Given the description of an element on the screen output the (x, y) to click on. 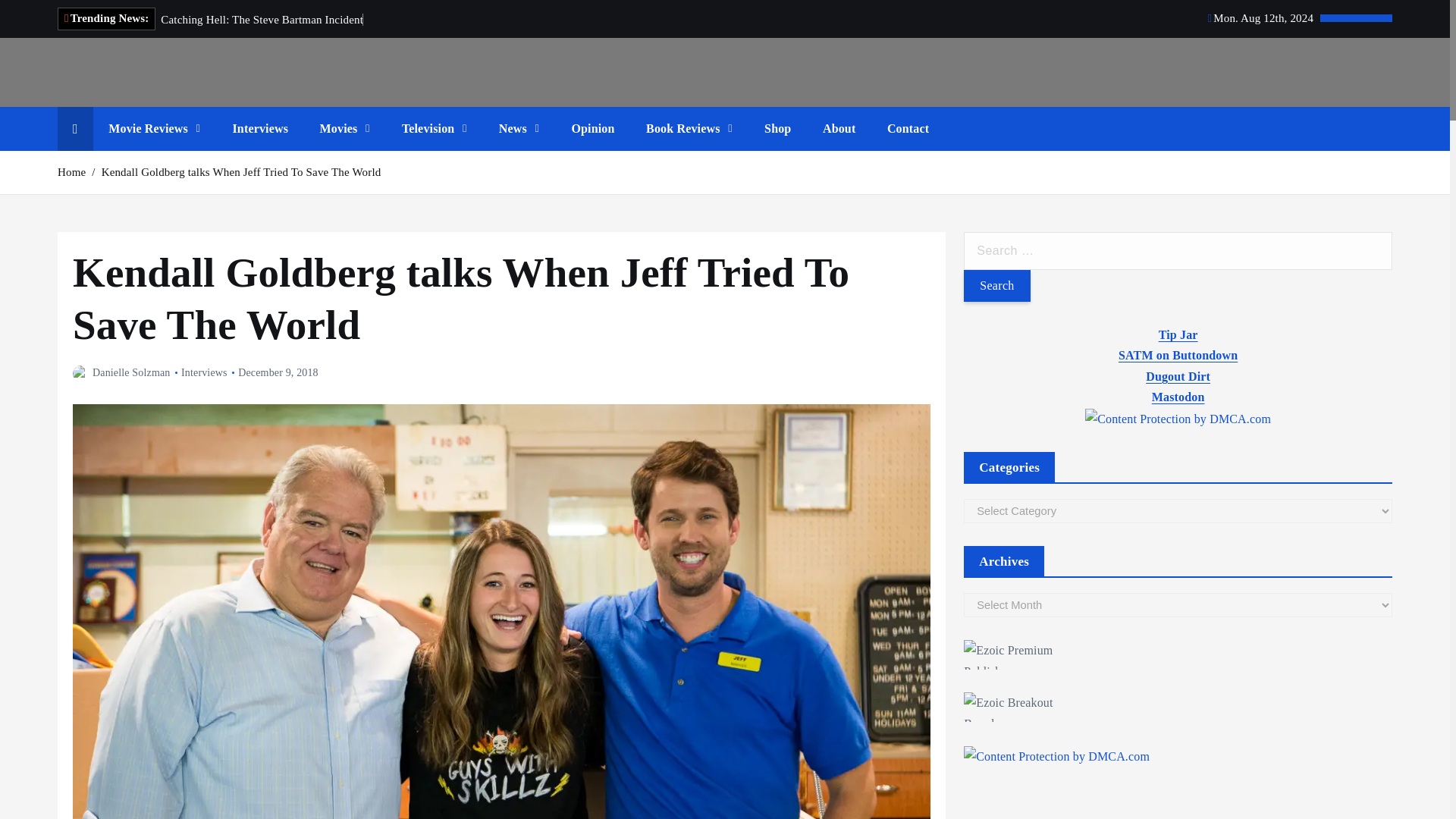
Interviews (259, 128)
Search (996, 286)
Movies (344, 128)
Television (434, 128)
Interviews (259, 128)
News (518, 128)
Movie Reviews (154, 128)
Movie Reviews (154, 128)
Movies (344, 128)
Search (996, 286)
